Given the description of an element on the screen output the (x, y) to click on. 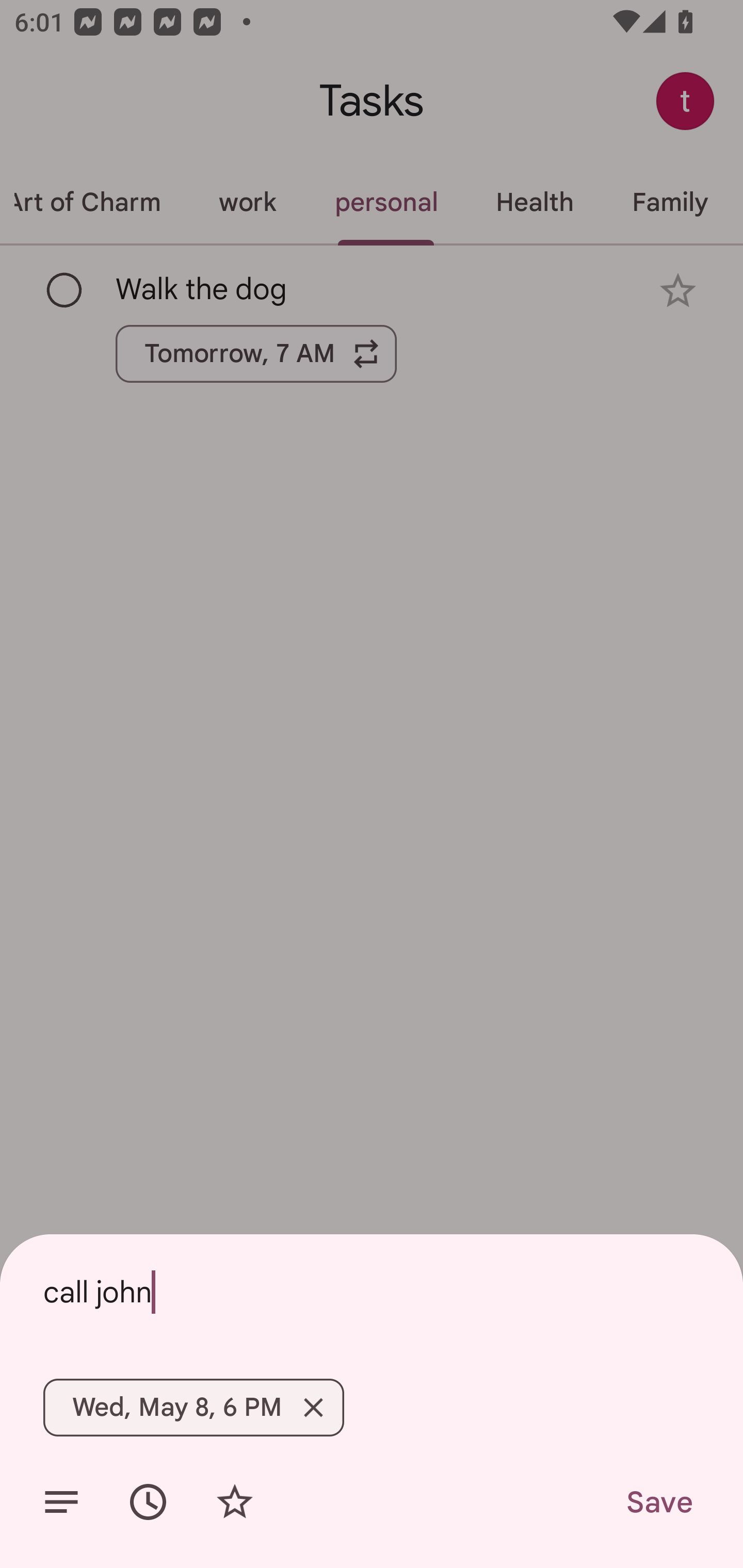
call john (371, 1291)
Wed, May 8, 6 PM Remove Wed, May 8, 6 PM (193, 1407)
Save (659, 1501)
Add details (60, 1501)
Set date/time (147, 1501)
Add star (234, 1501)
